Given the description of an element on the screen output the (x, y) to click on. 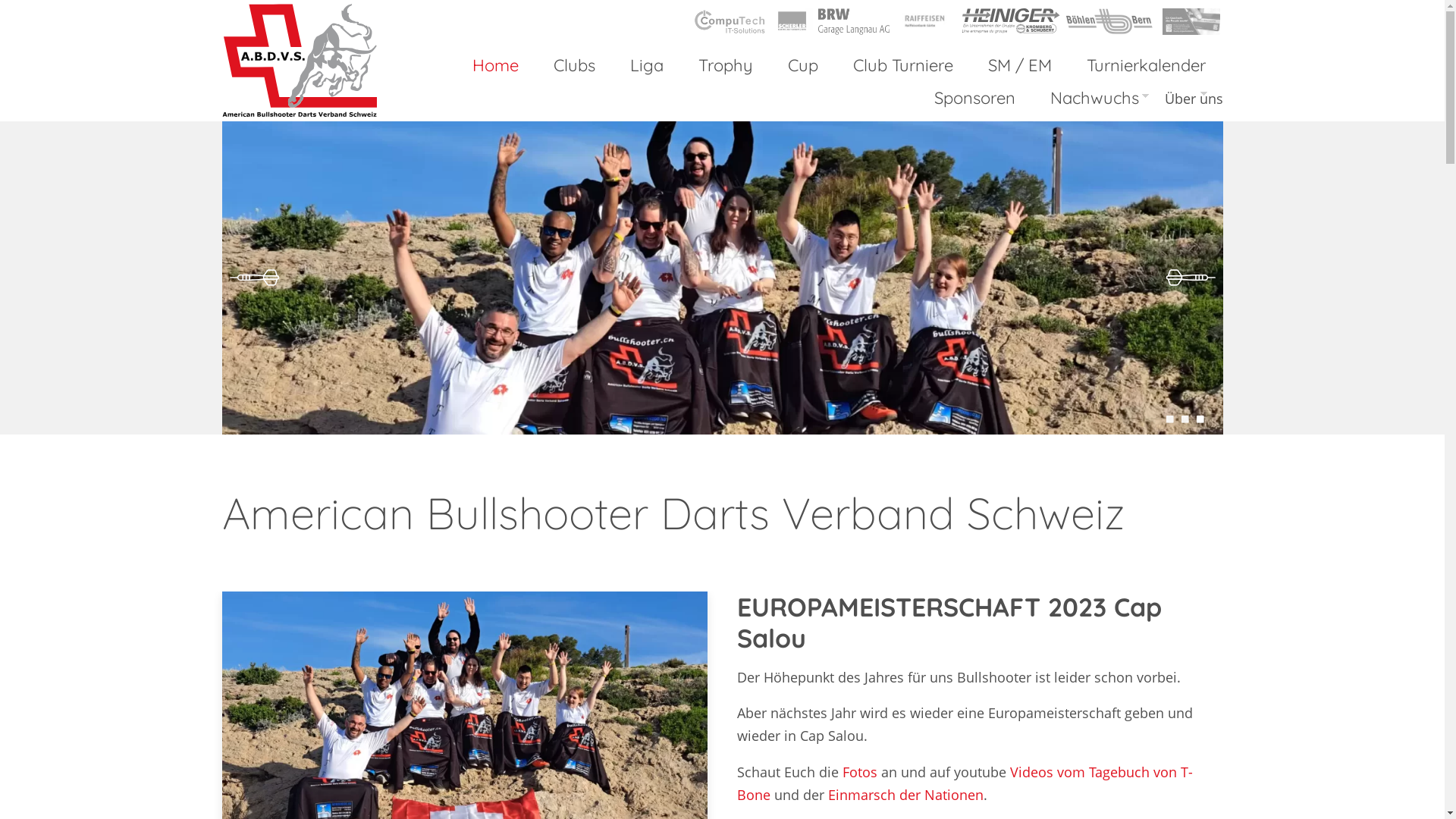
SM / EM Element type: text (1019, 65)
2 Element type: text (1184, 418)
Sponsoren Element type: text (974, 97)
Trophy Element type: text (725, 65)
Home Element type: text (495, 65)
Next Element type: text (1188, 277)
Home Element type: hover (298, 60)
Previous Element type: text (255, 277)
1 Element type: text (1168, 418)
Videos vom Tagebuch von T-Bone Element type: text (964, 782)
Liga Element type: text (646, 65)
Turnierkalender Element type: text (1146, 65)
Clubs Element type: text (573, 65)
3 Element type: text (1199, 418)
Club Turniere Element type: text (902, 65)
Cup Element type: text (802, 65)
Einmarsch der Nationen Element type: text (905, 794)
Fotos Element type: text (859, 771)
Nachwuchs Element type: text (1098, 97)
